Given the description of an element on the screen output the (x, y) to click on. 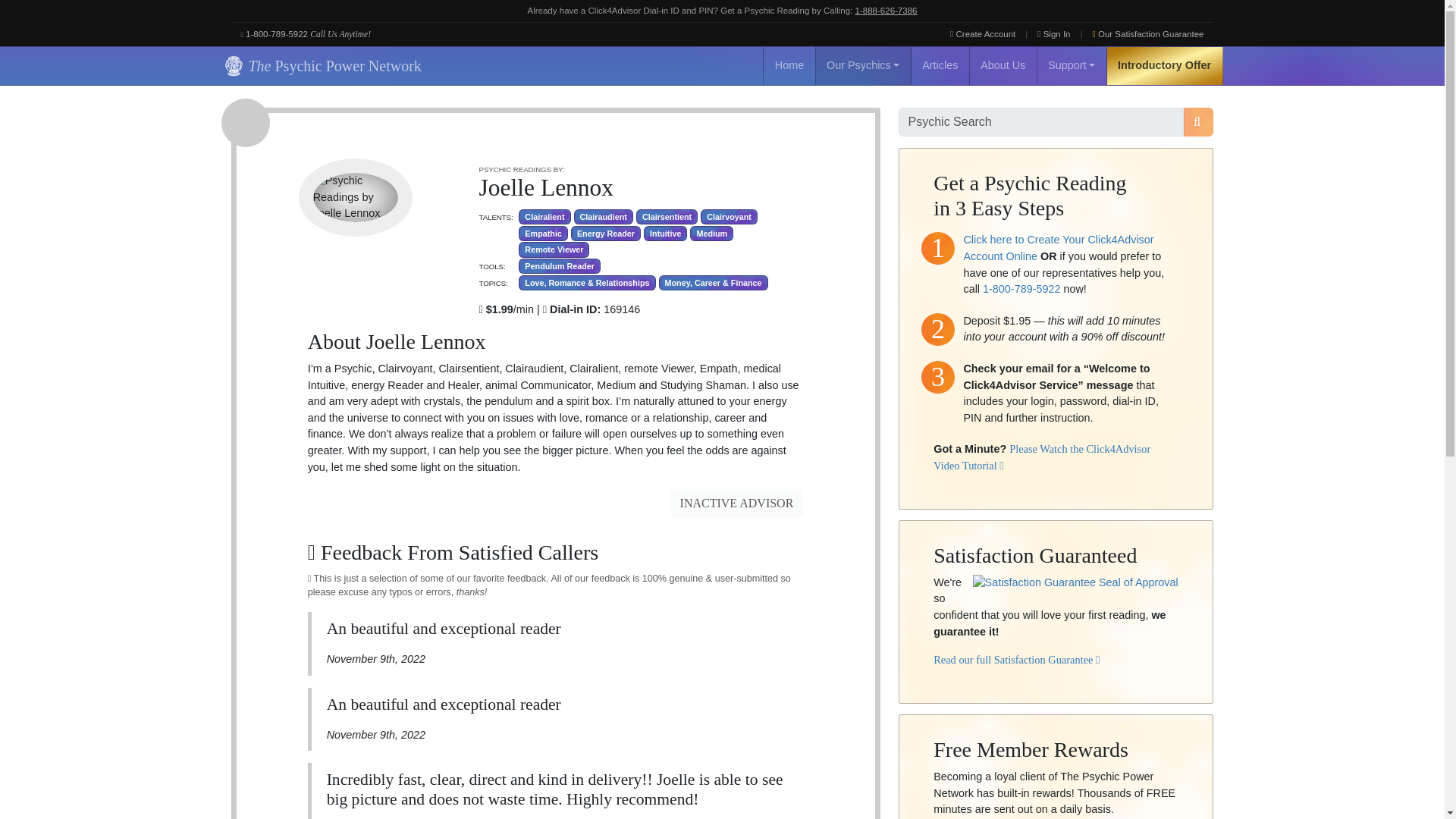
Support (1071, 65)
Medium (711, 233)
About Us (1002, 65)
Energy Reader (605, 233)
Our Psychics (863, 65)
Home (788, 65)
Introductory Offer (1164, 65)
Clairvoyant (728, 216)
Clairalient (544, 216)
Pendulum Reader (558, 265)
Clairsentient (666, 216)
The Psychic Power Network (320, 65)
Our Satisfaction Guarantee (1148, 33)
Empathic (542, 233)
Home (788, 65)
